Given the description of an element on the screen output the (x, y) to click on. 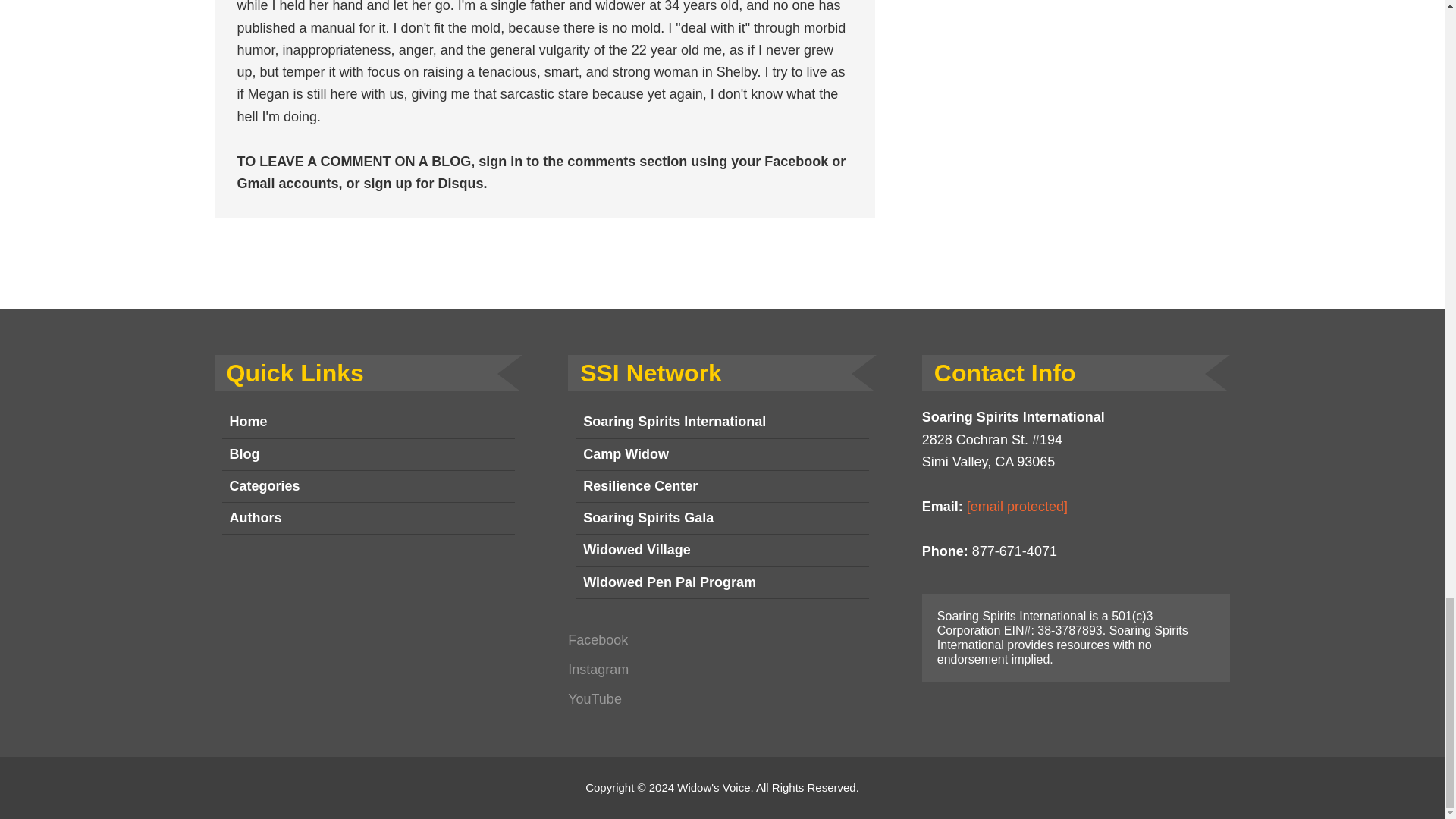
Widowed Village (722, 550)
Soaring Spirits Gala (722, 518)
Instagram (597, 669)
Camp Widow (722, 454)
Facebook (597, 639)
Home (368, 422)
YouTube (594, 698)
Blog (368, 454)
Authors (368, 518)
Soaring Spirits International (722, 422)
